Given the description of an element on the screen output the (x, y) to click on. 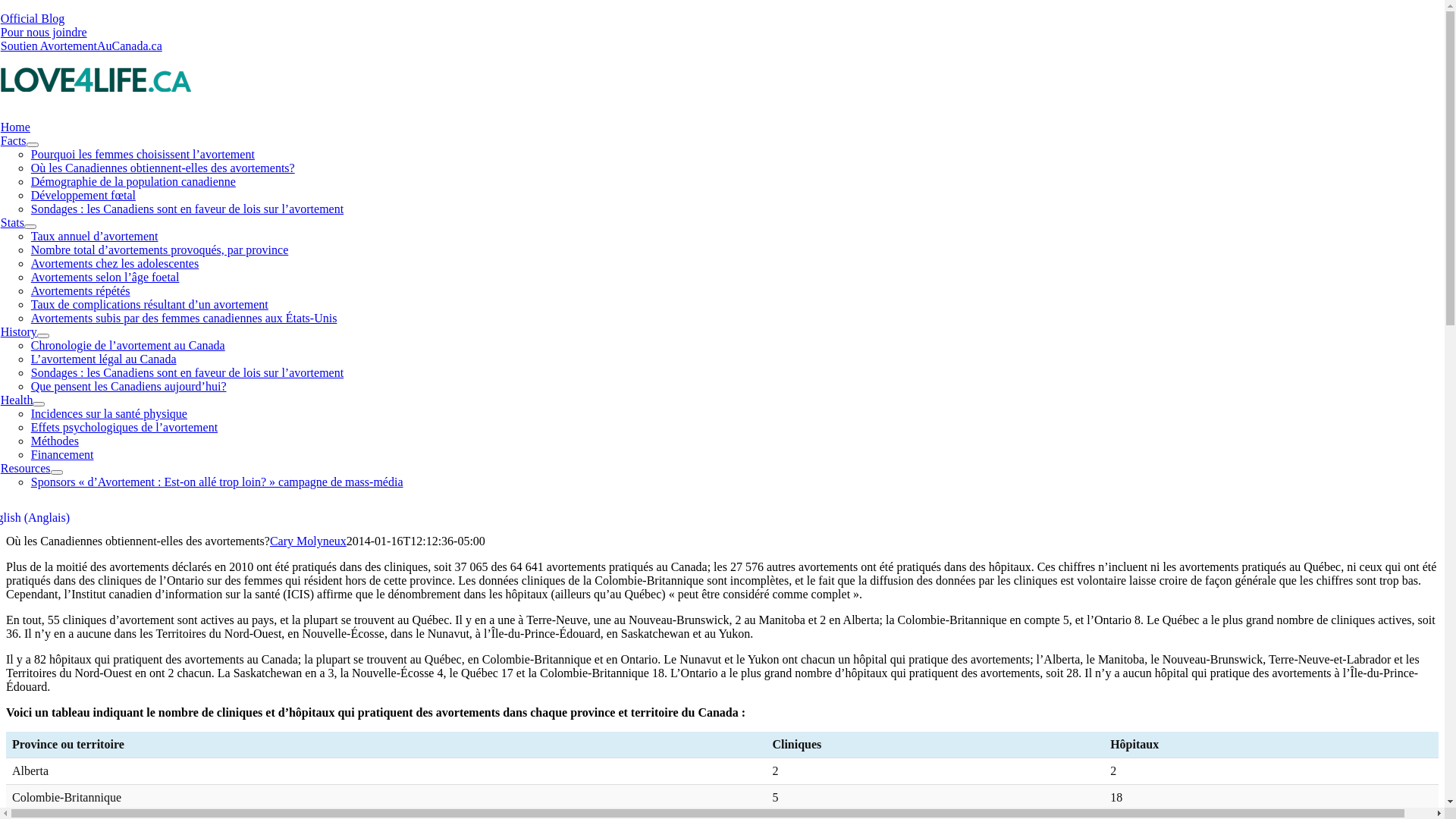
Health Element type: text (16, 399)
Cary Molyneux Element type: text (307, 540)
History Element type: text (18, 331)
Avortements chez les adolescentes Element type: text (114, 263)
Passer au contenu Element type: text (5, 11)
Stats Element type: text (12, 222)
Financement Element type: text (62, 454)
Facts Element type: text (13, 140)
Pour nous joindre Element type: text (43, 31)
Home Element type: text (15, 126)
Soutien AvortementAuCanada.ca Element type: text (81, 45)
Resources Element type: text (25, 467)
Official Blog Element type: text (32, 18)
